Given the description of an element on the screen output the (x, y) to click on. 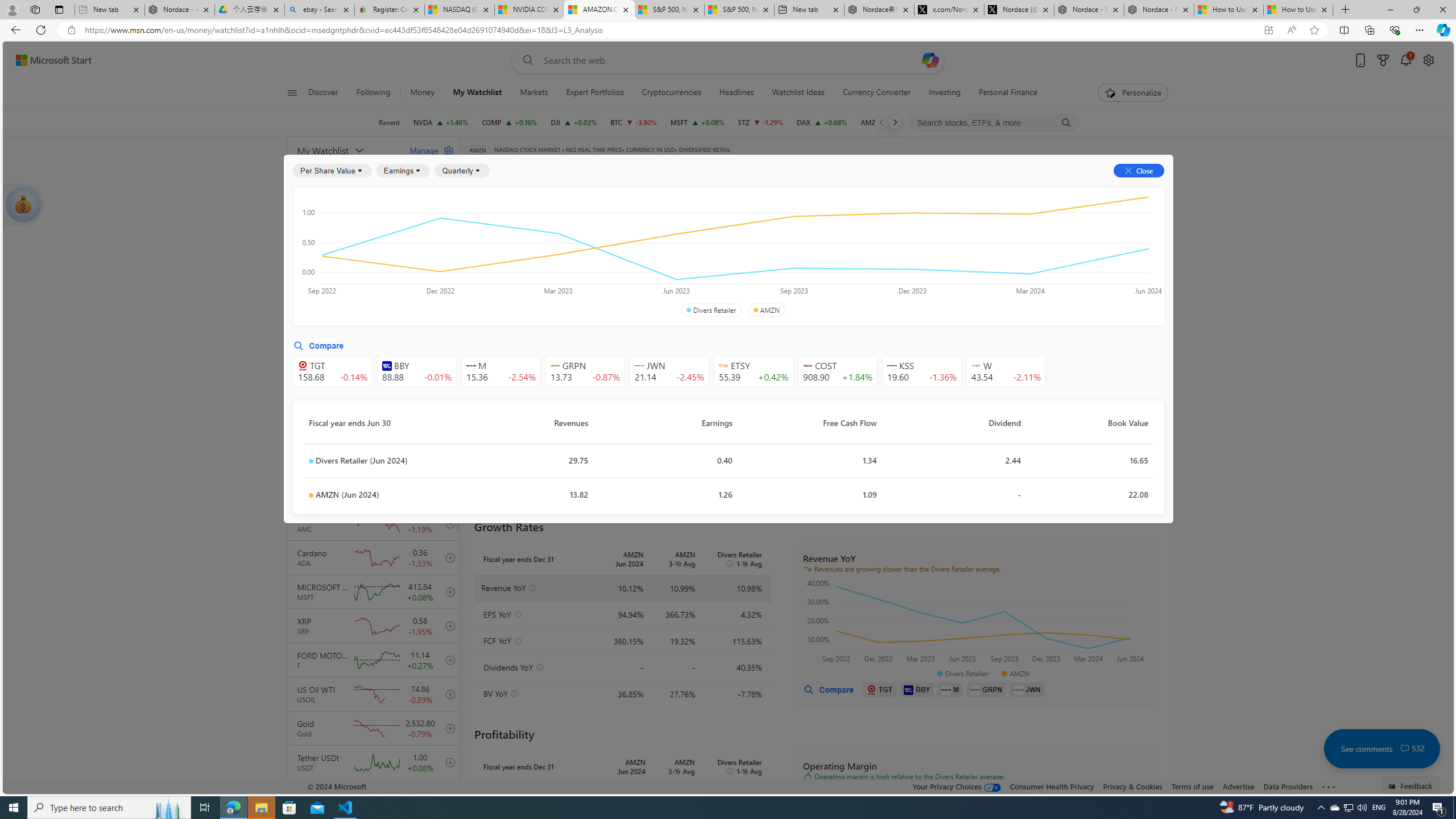
Investing (944, 92)
Expert Portfolios (594, 92)
Terms of use (1192, 786)
Data Providers (1288, 786)
Valuation (714, 253)
Register: Create a personal eBay account (389, 9)
Data Providers (1288, 785)
Compare (722, 166)
Personal Finance (1008, 92)
Efficiency (850, 253)
Class: imagIcon-DS-EntryPoint1-1 (1018, 689)
